Given the description of an element on the screen output the (x, y) to click on. 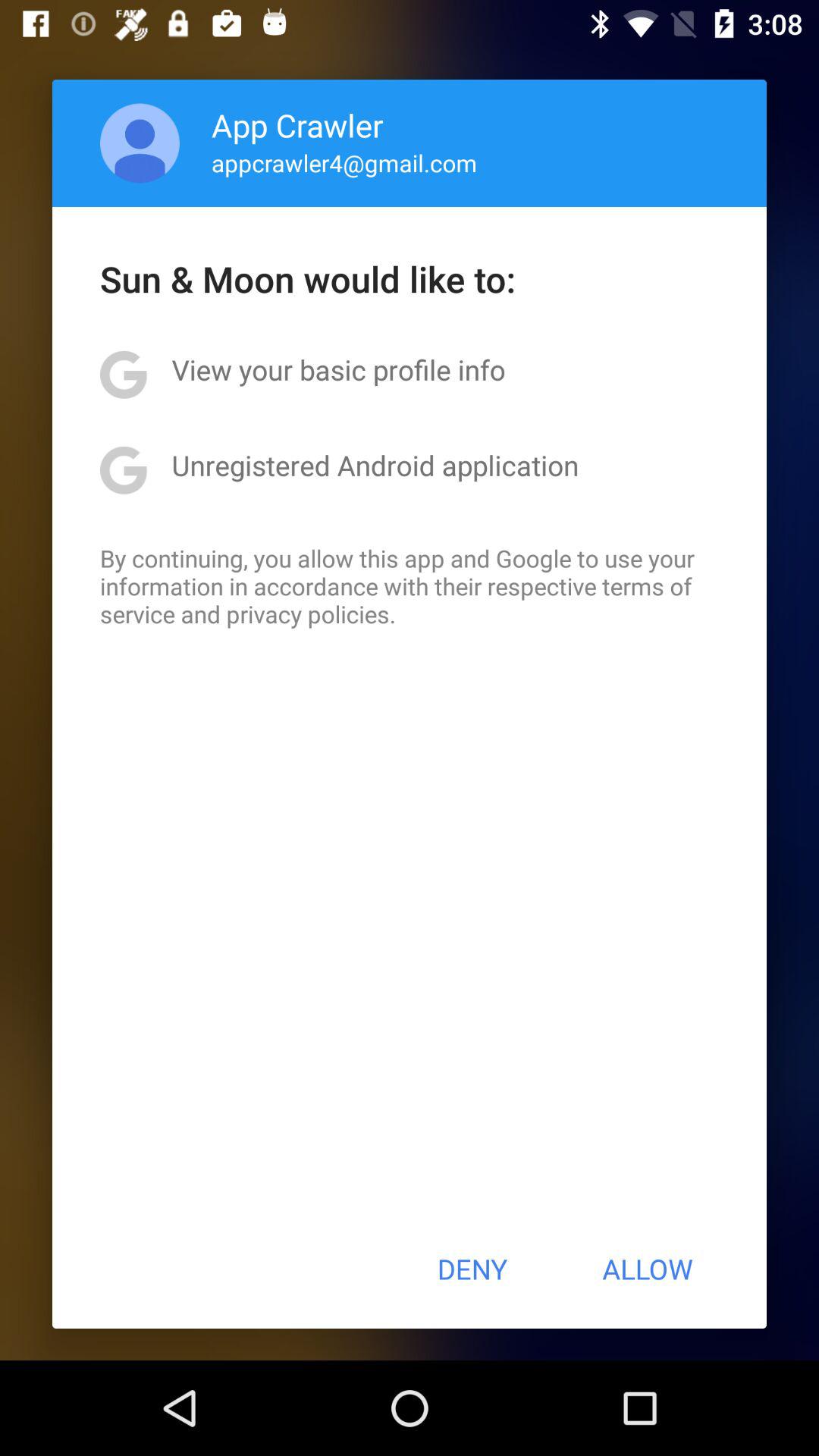
jump to unregistered android application icon (374, 465)
